Given the description of an element on the screen output the (x, y) to click on. 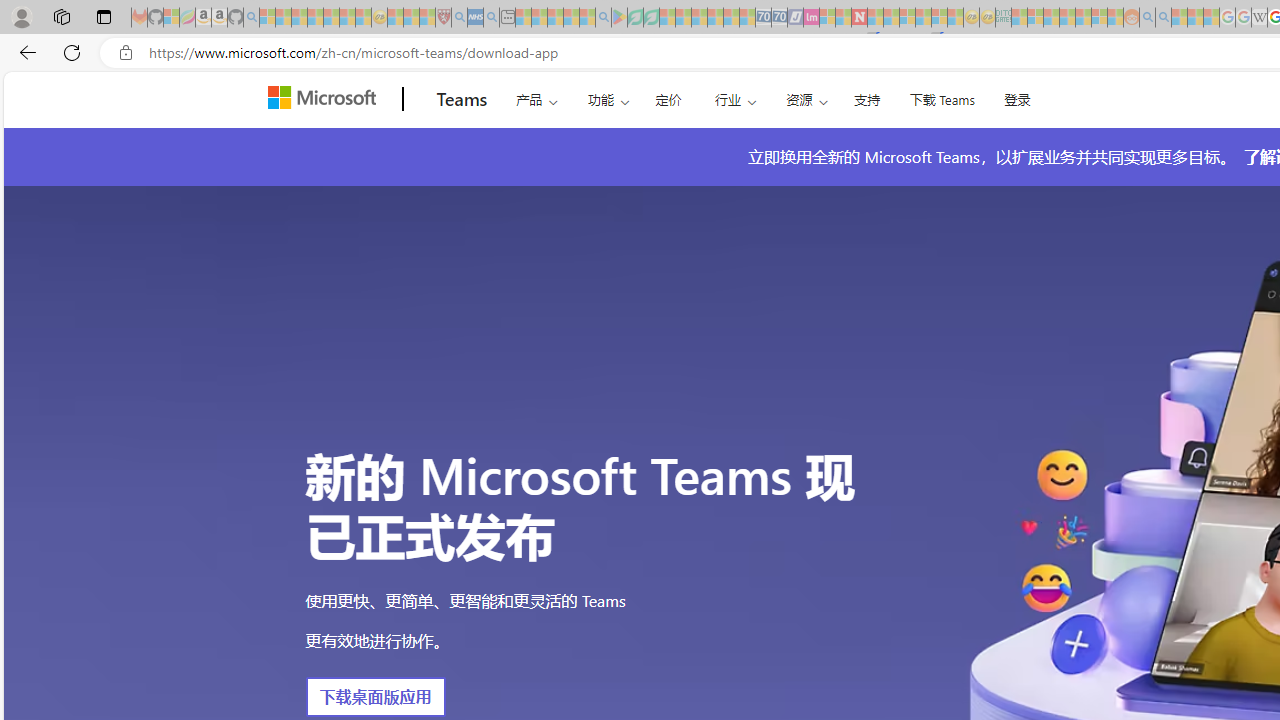
Target page - Wikipedia - Sleeping (1259, 17)
